Given the description of an element on the screen output the (x, y) to click on. 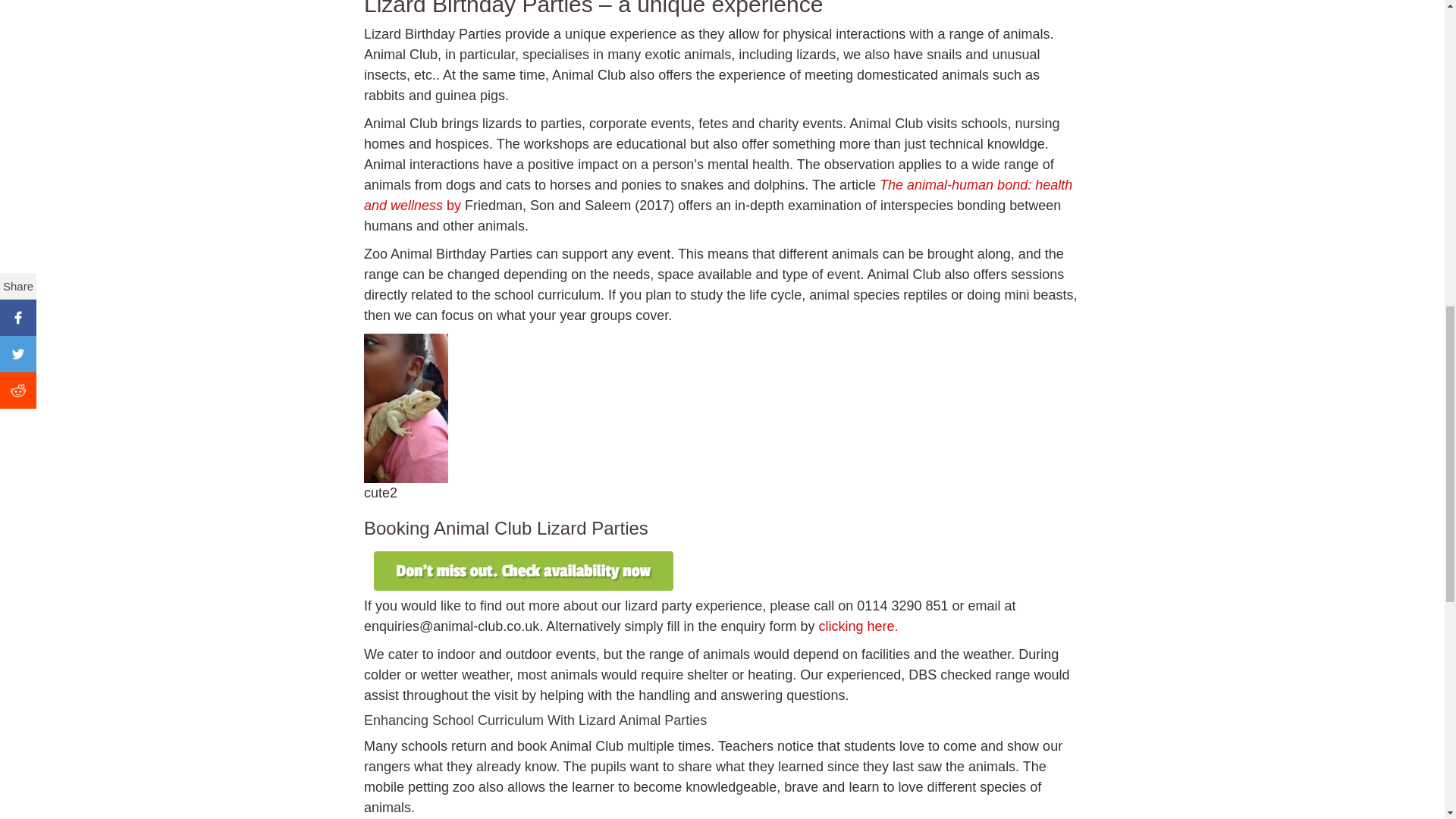
The animal-human bond: health and wellness (717, 194)
by (455, 205)
clicking here. (856, 626)
